Given the description of an element on the screen output the (x, y) to click on. 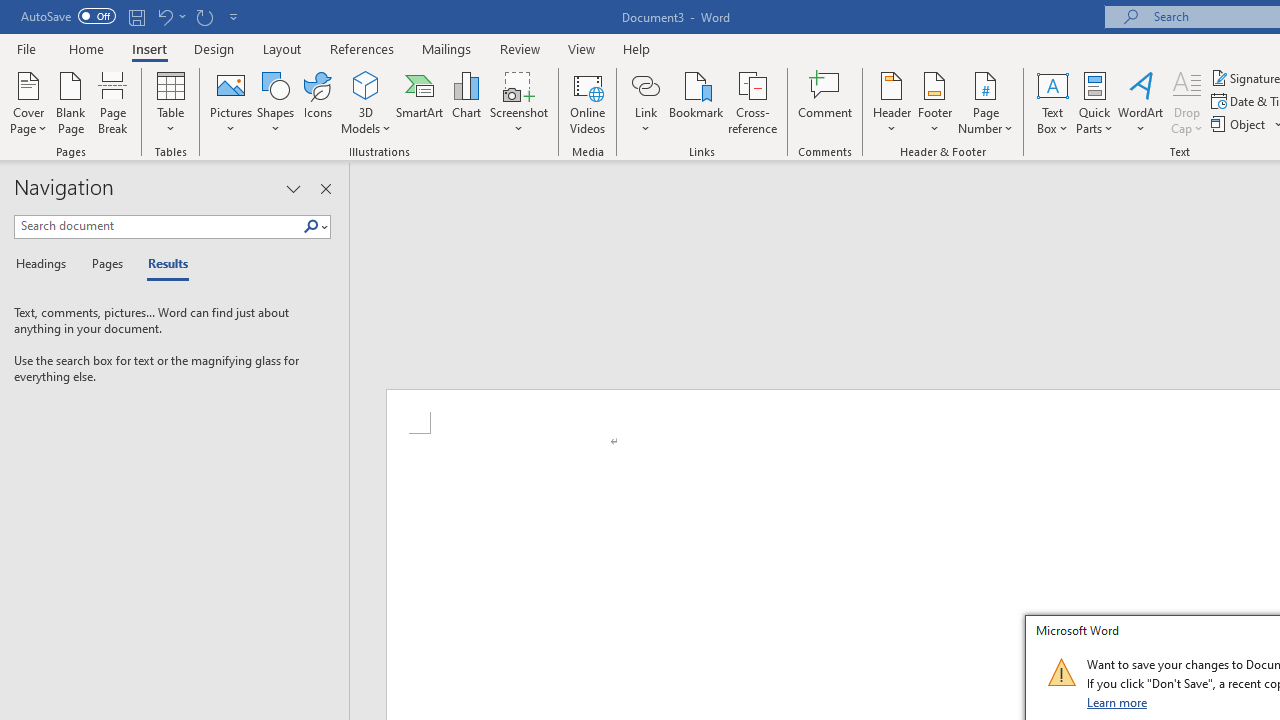
SmartArt... (419, 102)
3D Models (366, 84)
WordArt (1141, 102)
Header (891, 102)
Text Box (1052, 102)
